Given the description of an element on the screen output the (x, y) to click on. 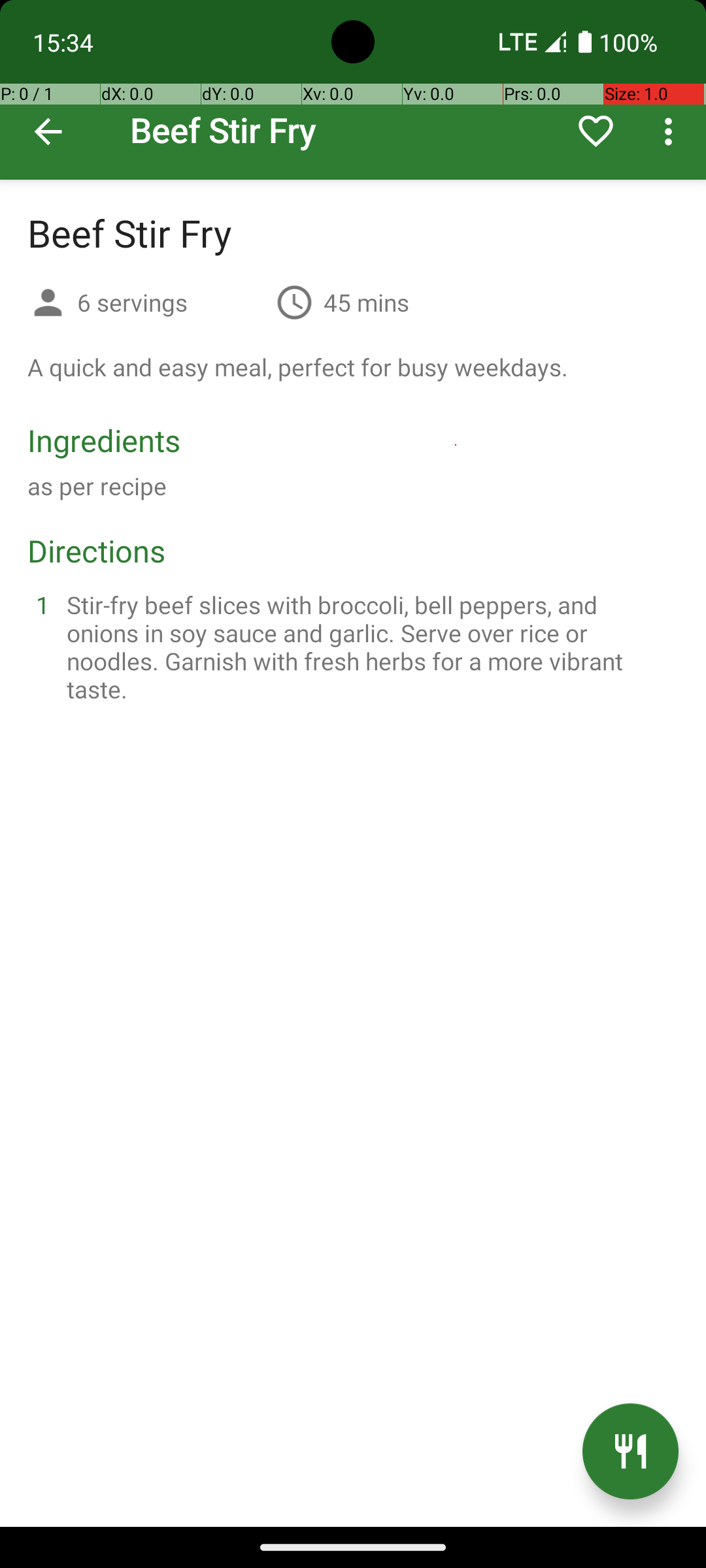
Stir-fry beef slices with broccoli, bell peppers, and onions in soy sauce and garlic. Serve over rice or noodles. Garnish with fresh herbs for a more vibrant taste. Element type: android.widget.TextView (368, 646)
